Given the description of an element on the screen output the (x, y) to click on. 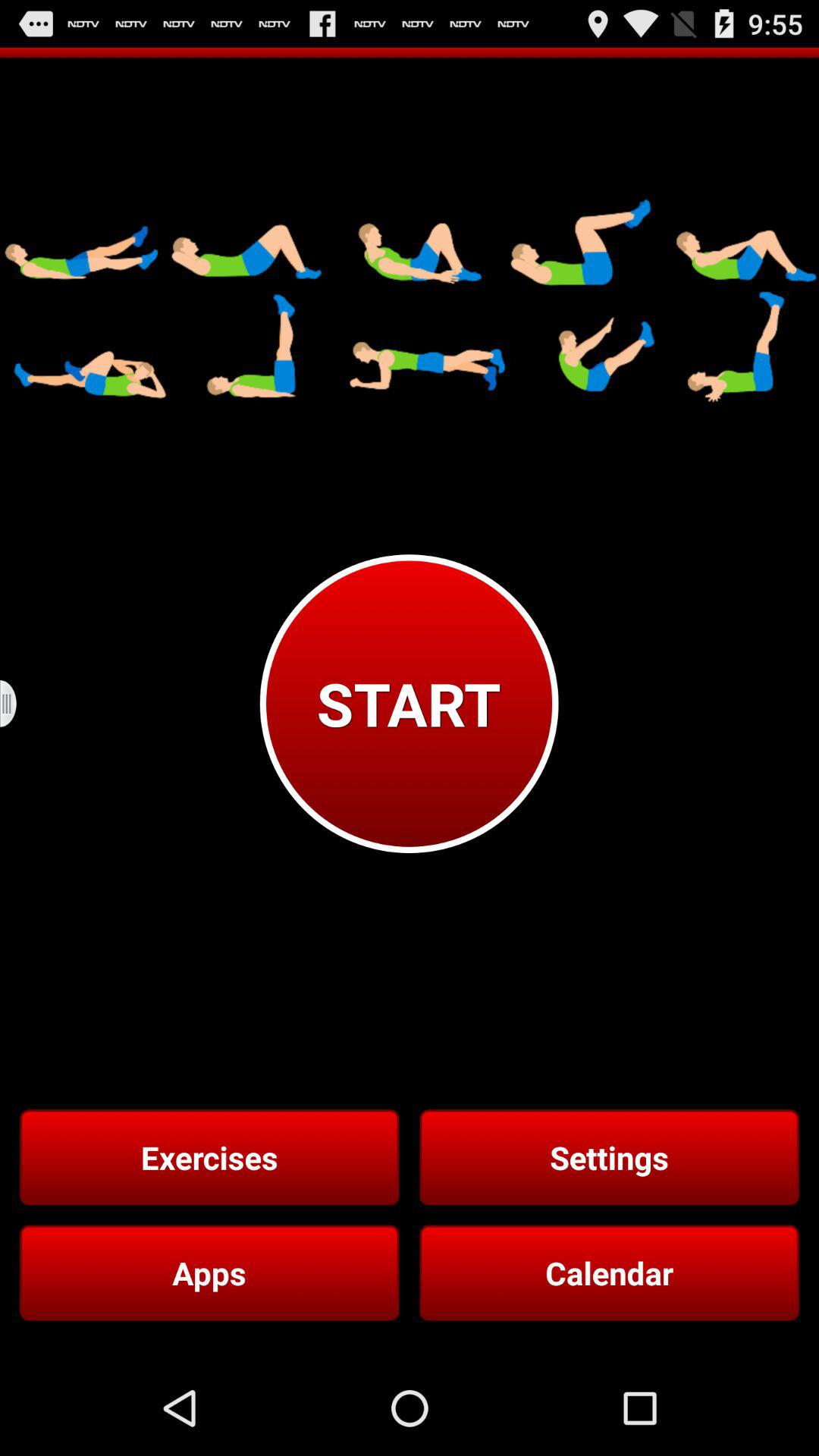
tap the item next to the exercises (609, 1157)
